Given the description of an element on the screen output the (x, y) to click on. 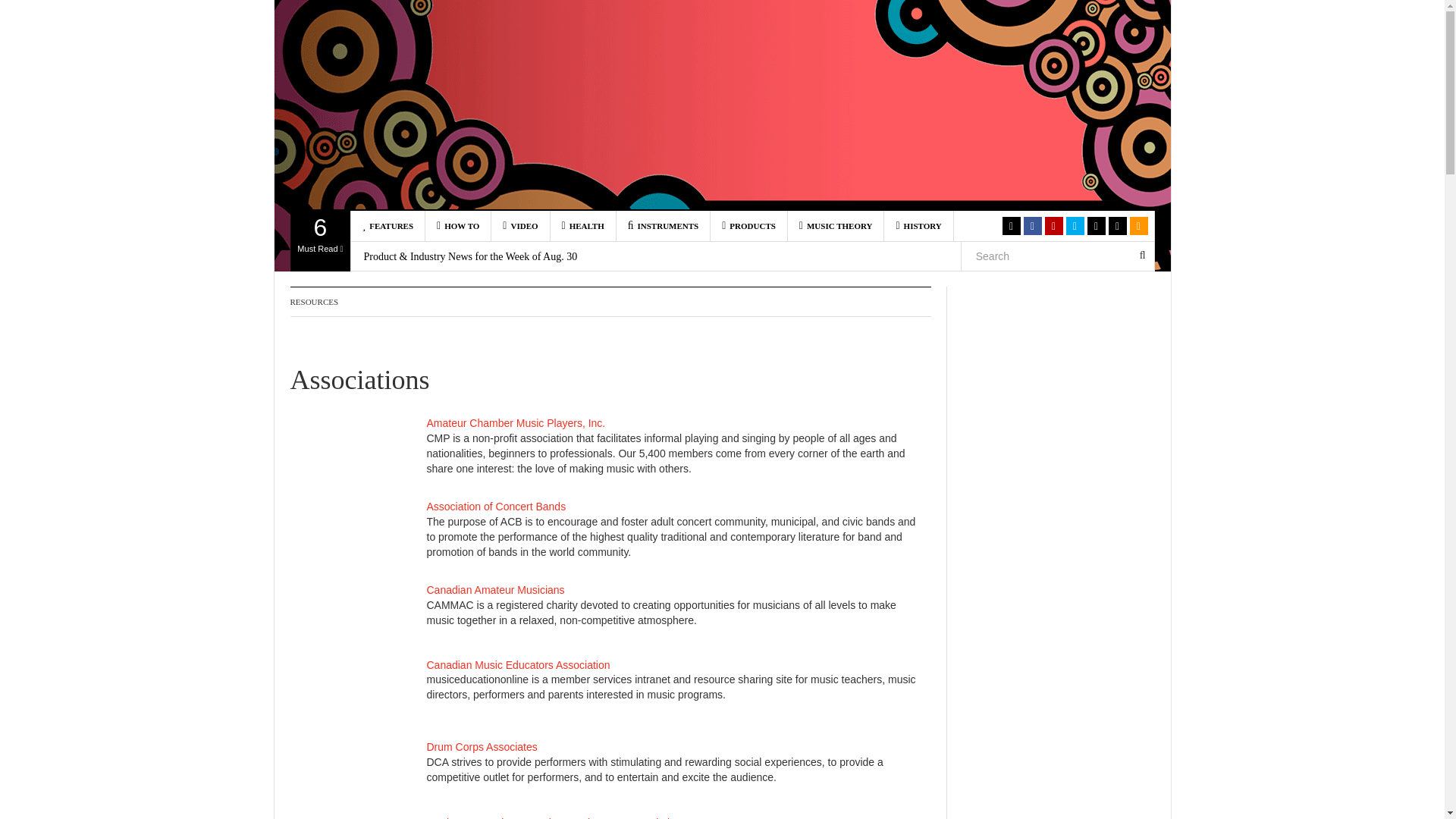
FEATURES (387, 225)
HOW TO (319, 240)
Making Music Magazine (458, 225)
